Given the description of an element on the screen output the (x, y) to click on. 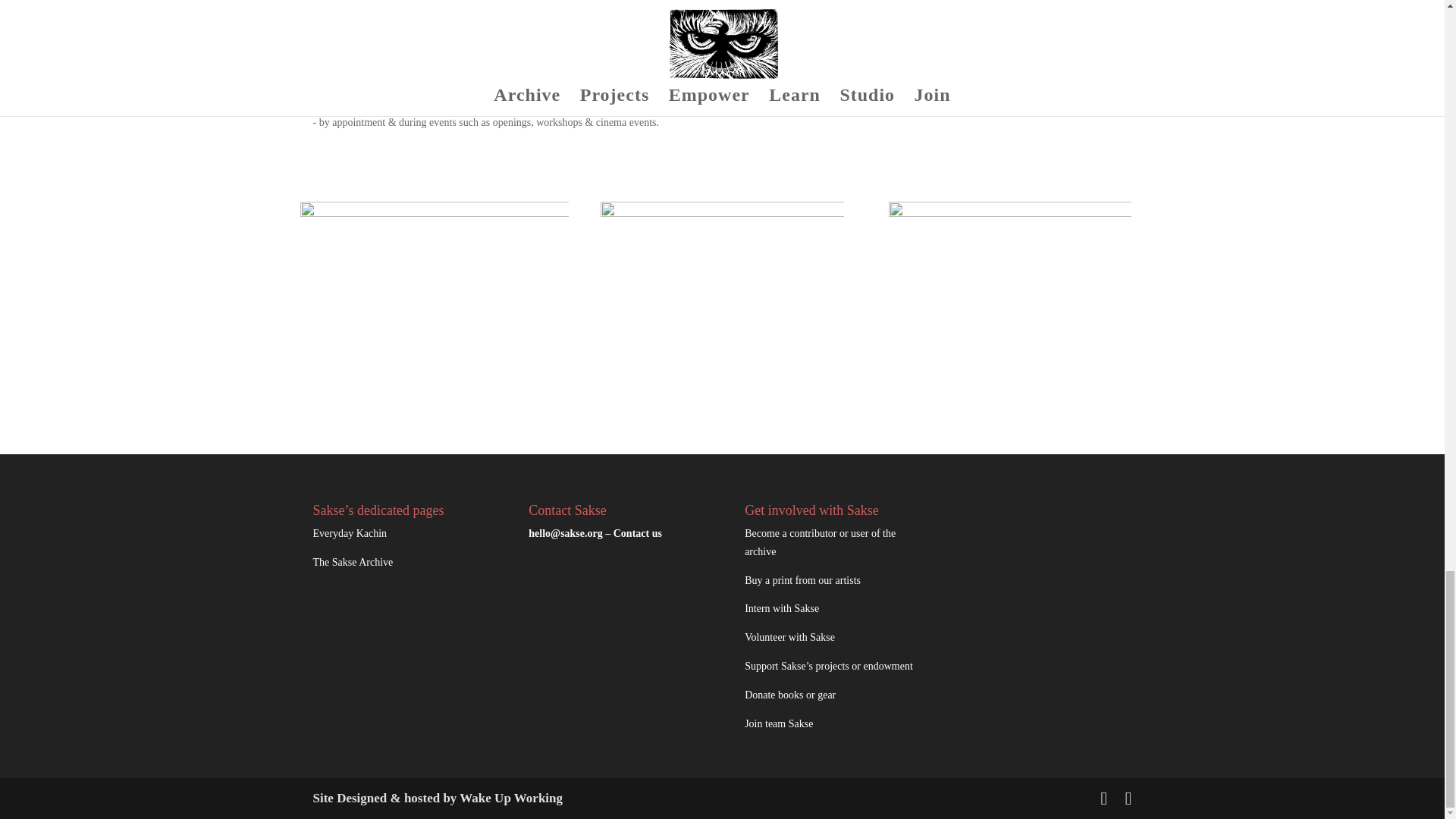
The Sakse Archive (353, 562)
Contact us (637, 532)
Wake Up Working (511, 798)
Sakse book showcase (721, 282)
web-logo-LG (1009, 280)
18.7720800, 98.9837300 (409, 36)
Join team Sakse (778, 723)
Intern with Sakse (781, 608)
Become a contributor or user of the archive (819, 542)
Donate books or gear (789, 695)
Everyday Kachin (350, 532)
Buy a print from our artists (802, 580)
Volunteer with Sakse (789, 636)
